Given the description of an element on the screen output the (x, y) to click on. 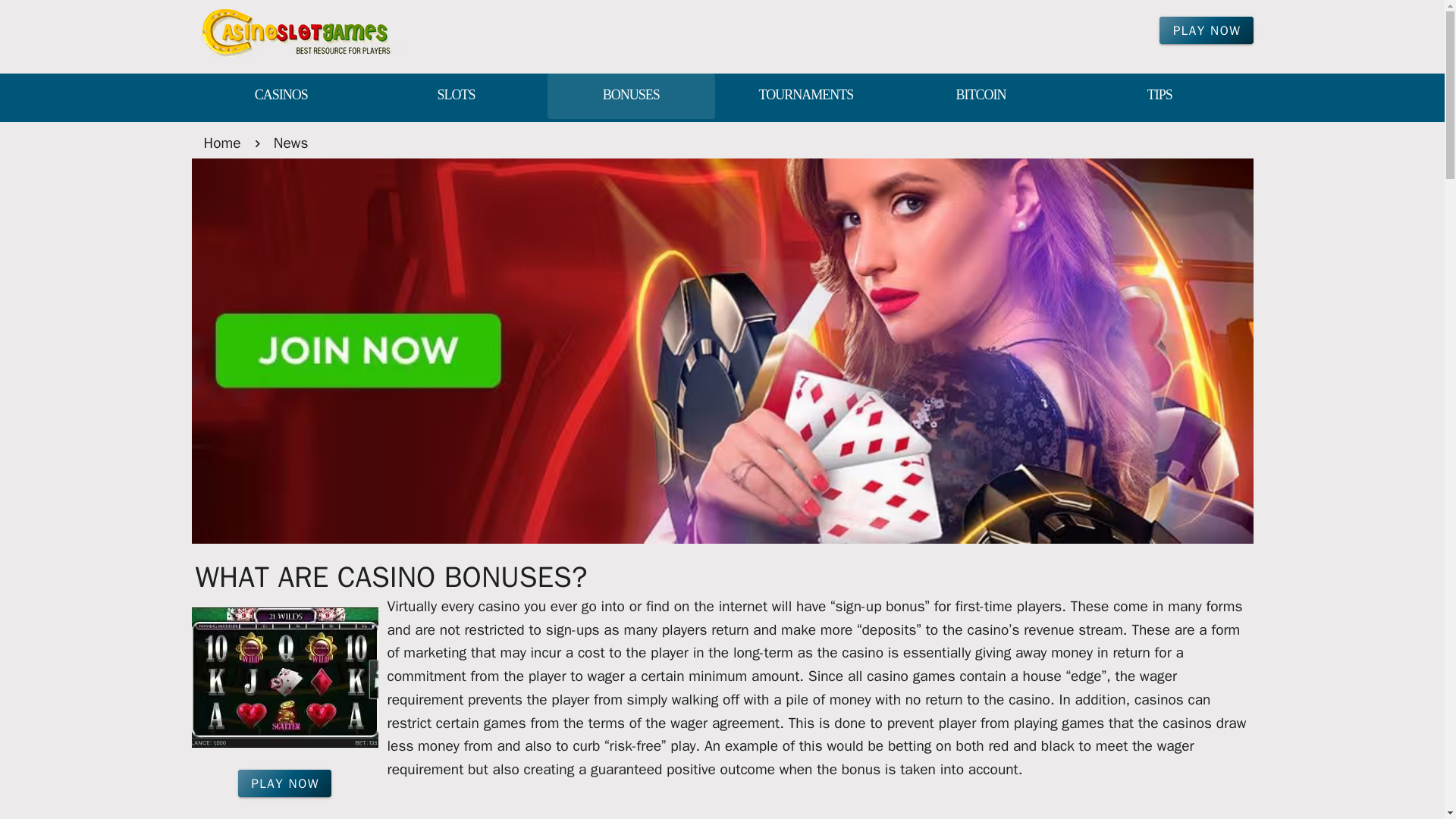
BITCOIN (980, 95)
TOURNAMENTS (805, 95)
CASINOS (280, 95)
BONUSES (630, 95)
SLOTS (456, 95)
Home (221, 143)
PLAY NOW (1205, 30)
News (290, 143)
PLAY NOW (284, 782)
TIPS (1159, 95)
